Given the description of an element on the screen output the (x, y) to click on. 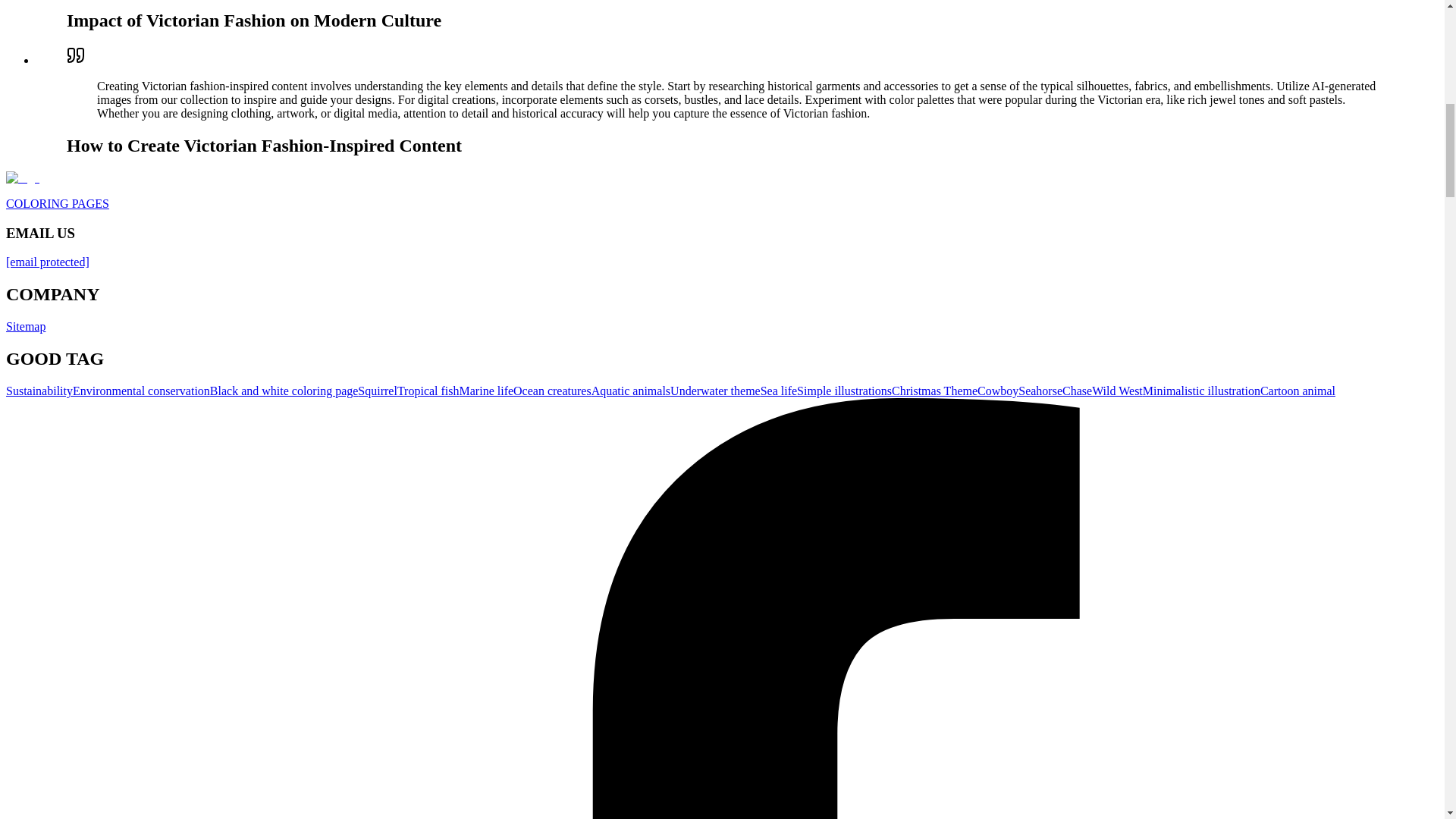
Cowboy (996, 390)
Tropical fish (428, 390)
Christmas Theme (933, 390)
Squirrel (377, 390)
Ocean creatures (552, 390)
Cartoon animal (1297, 390)
Tropical fish (428, 390)
Aquatic animals (630, 390)
Marine life (486, 390)
Squirrel (377, 390)
Sustainability (38, 390)
Environmental conservation (140, 390)
Black and white coloring page (283, 390)
Aquatic animals (630, 390)
Ocean creatures (552, 390)
